Given the description of an element on the screen output the (x, y) to click on. 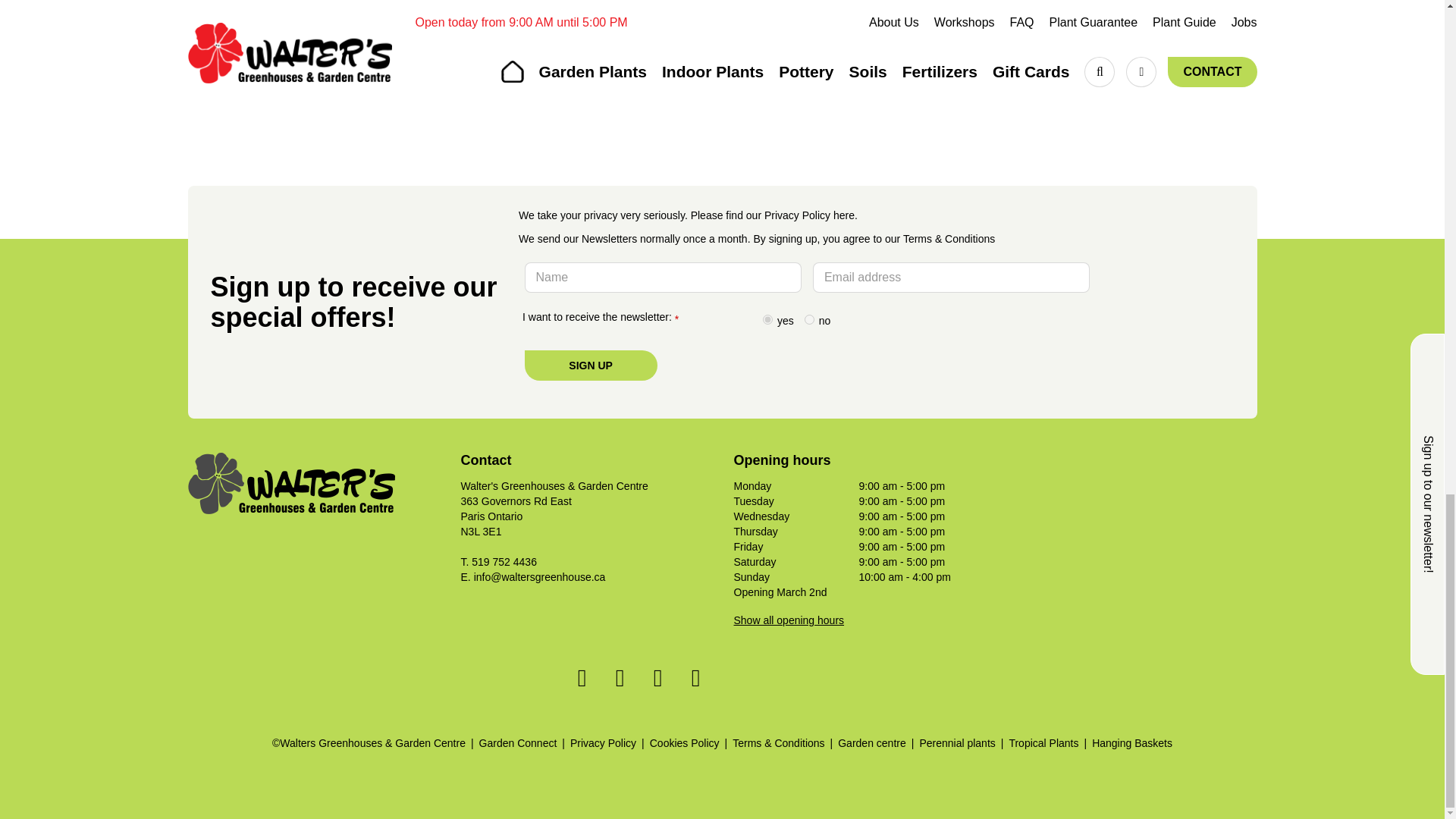
1 (767, 319)
Sign up (591, 365)
0 (809, 319)
